Given the description of an element on the screen output the (x, y) to click on. 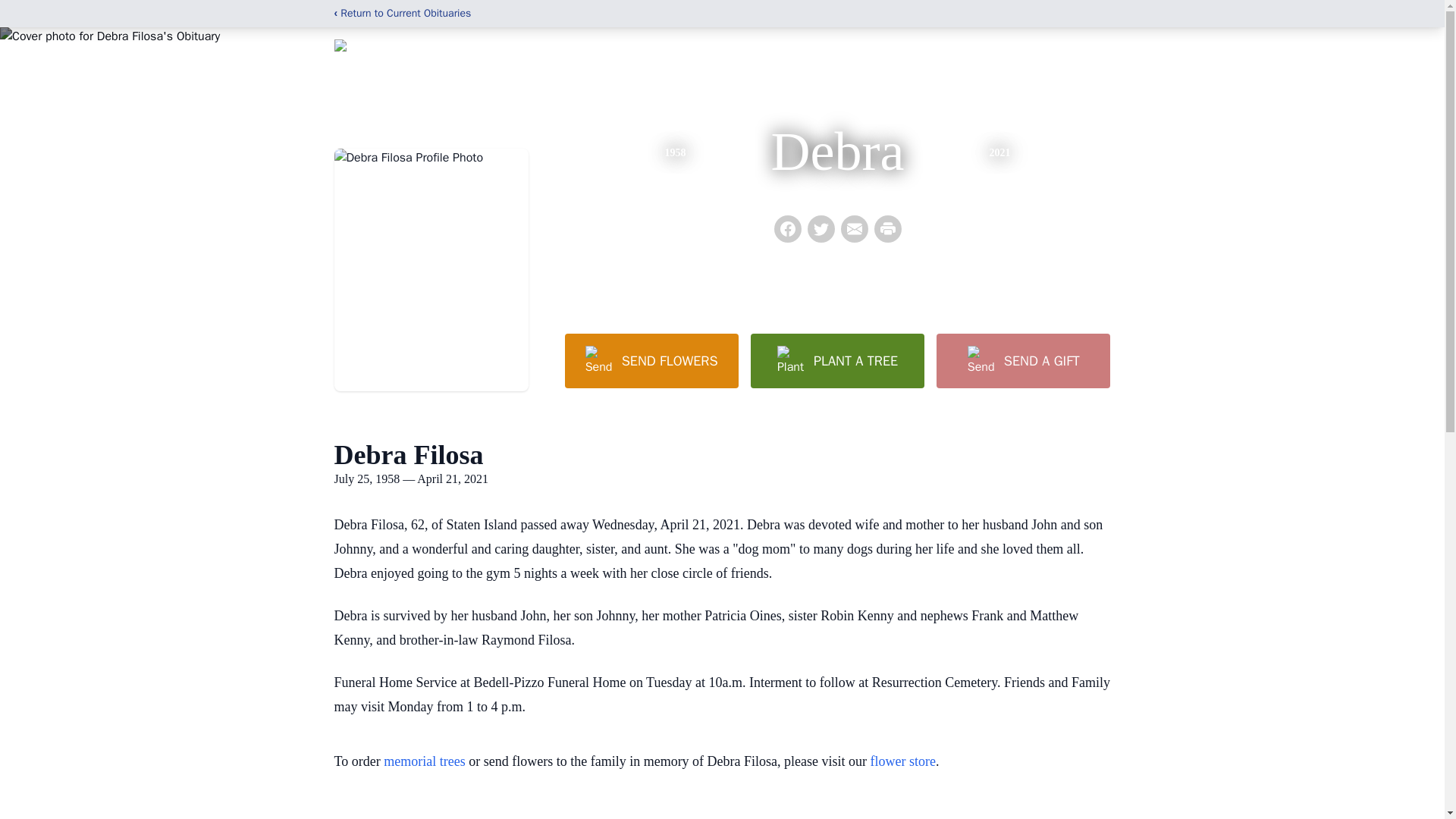
SEND FLOWERS (651, 360)
SEND A GIFT (1022, 360)
flower store (903, 761)
PLANT A TREE (837, 360)
memorial trees (424, 761)
